Given the description of an element on the screen output the (x, y) to click on. 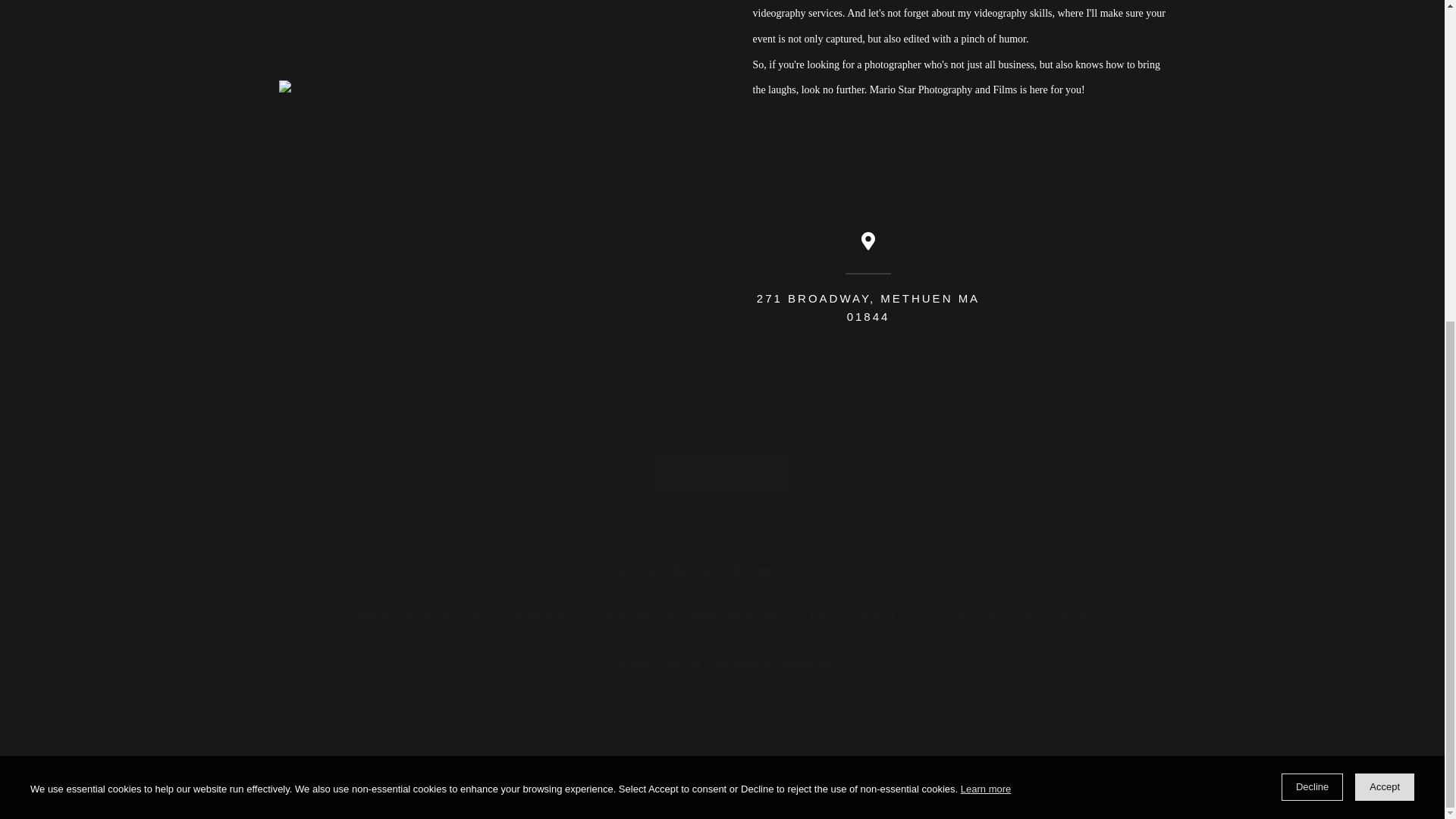
Decline (1311, 265)
HOME (370, 617)
Learn more (985, 267)
CONTACT ME (715, 470)
PORTFOLIO (445, 617)
Accept (1384, 265)
